Given the description of an element on the screen output the (x, y) to click on. 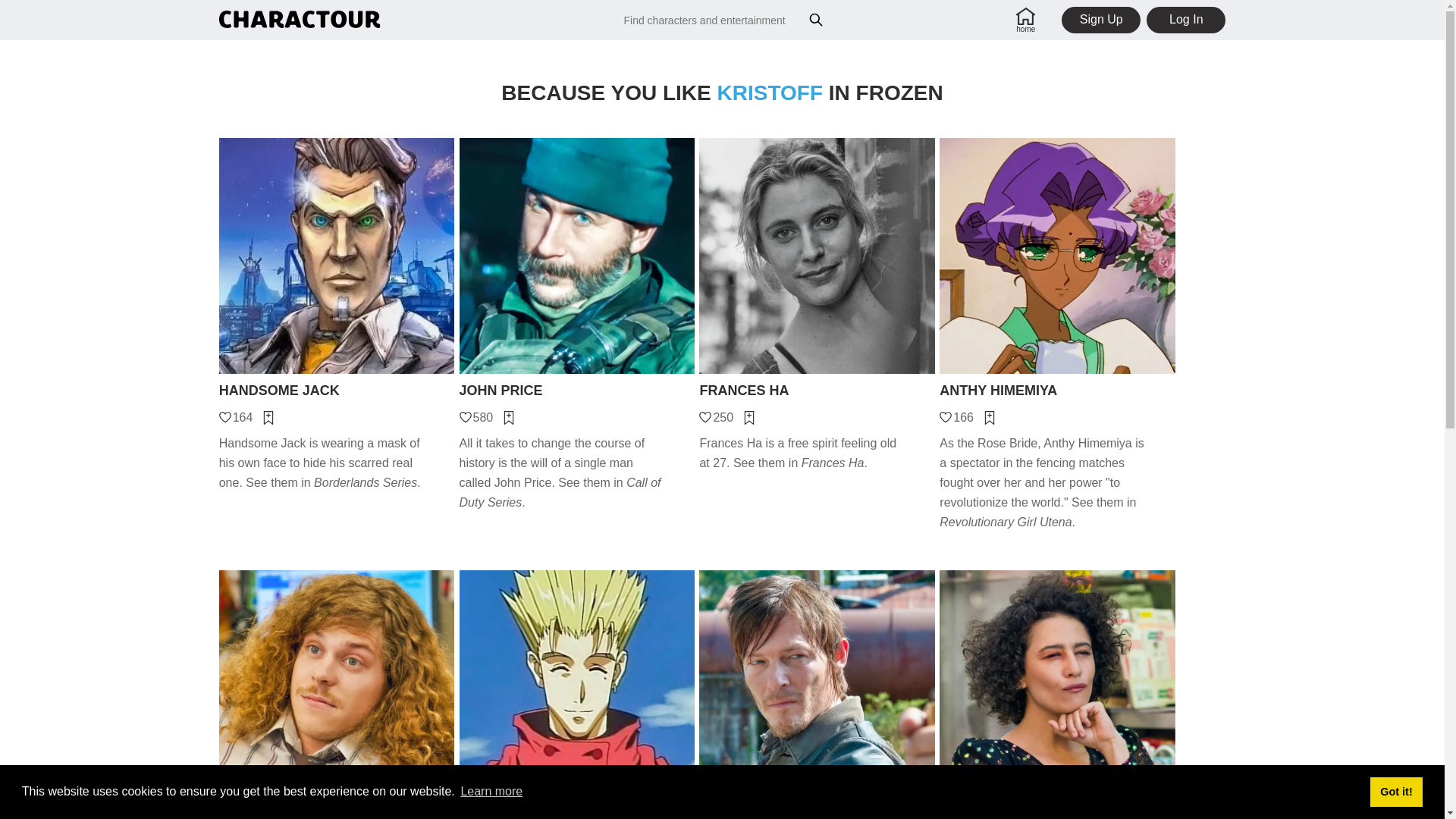
JOHN PRICE (577, 390)
Learn more (491, 791)
Got it! (1396, 791)
FRANCES HA (816, 390)
Sign Up (1100, 19)
Log In (1186, 19)
KRISTOFF (769, 92)
ANTHY HIMEMIYA (1056, 390)
DARYL DIXON (816, 816)
HANDSOME JACK (336, 390)
MILLIONS KNIVES (577, 816)
BLAKE HENDERSON (336, 816)
ILANA WEXLER (1056, 816)
